Given the description of an element on the screen output the (x, y) to click on. 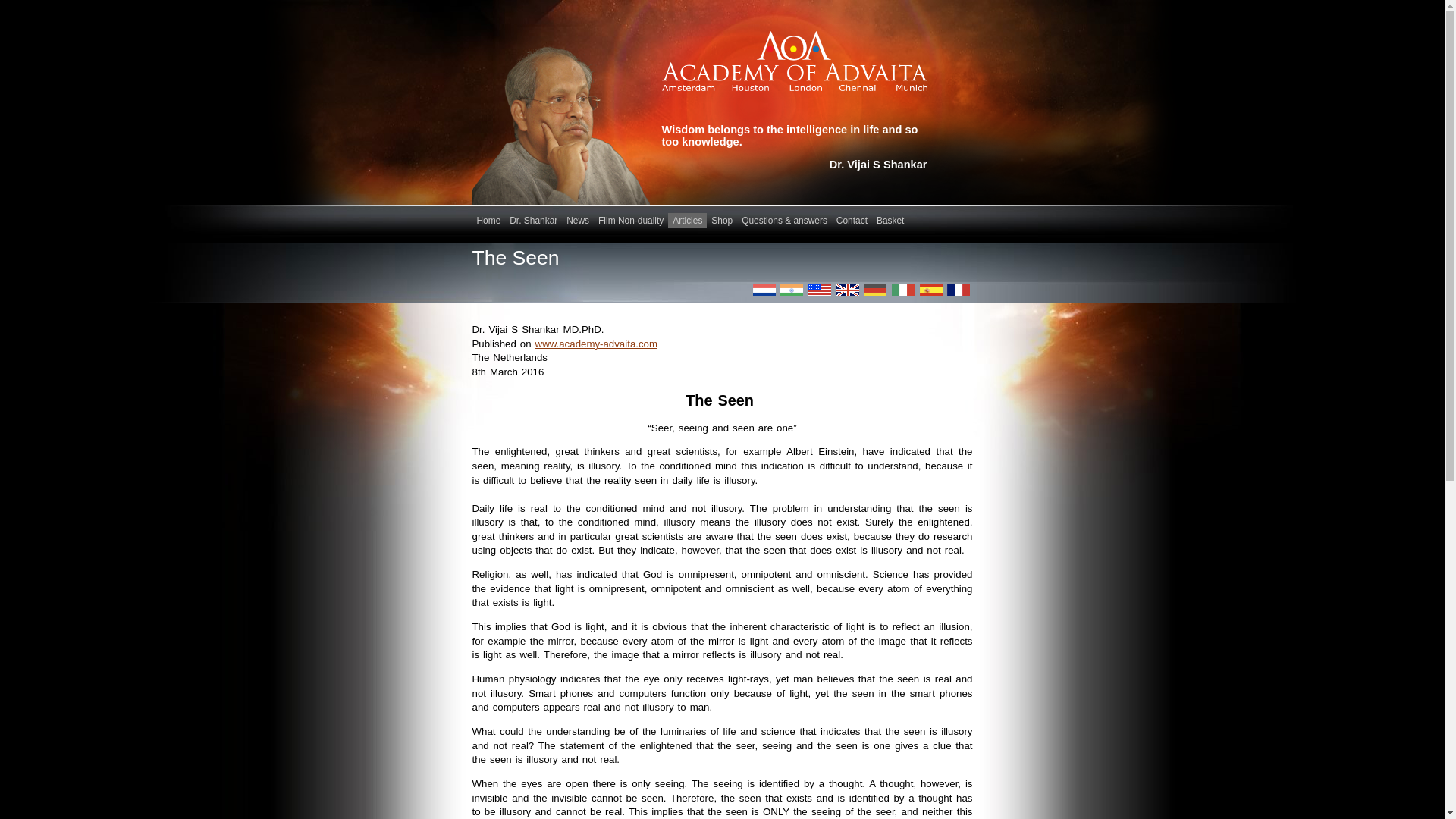
Dr. Shankar (533, 220)
Contact (851, 220)
Basket (890, 220)
Shop (721, 220)
Home (488, 220)
www.academy-advaita.com (596, 343)
News (578, 220)
Articles (687, 220)
Film Non-duality (631, 220)
